Given the description of an element on the screen output the (x, y) to click on. 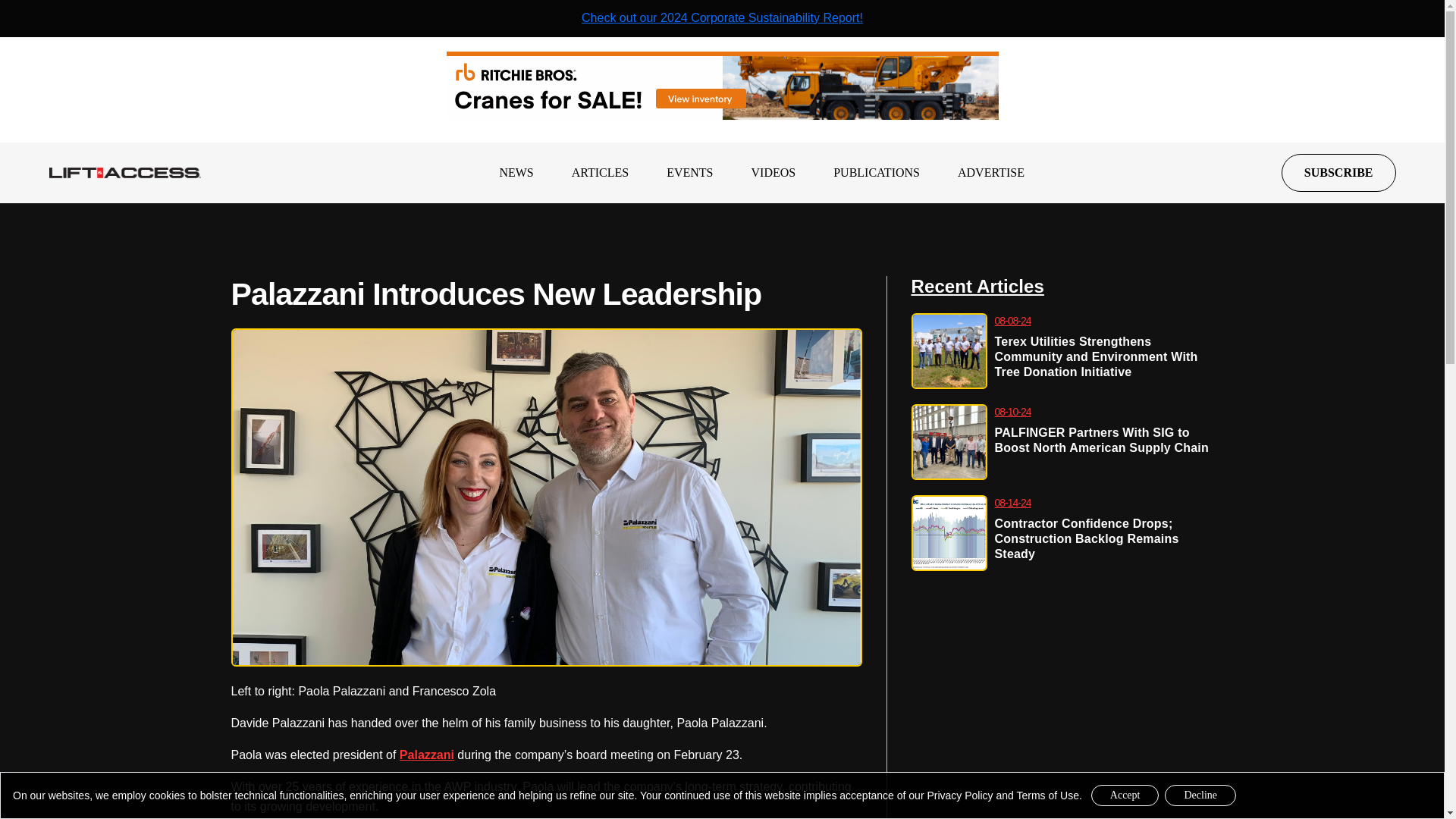
Palazzani (426, 754)
ARTICLES (600, 172)
ADVERTISE (991, 172)
SUBSCRIBE (1338, 172)
PUBLICATIONS (876, 172)
